Given the description of an element on the screen output the (x, y) to click on. 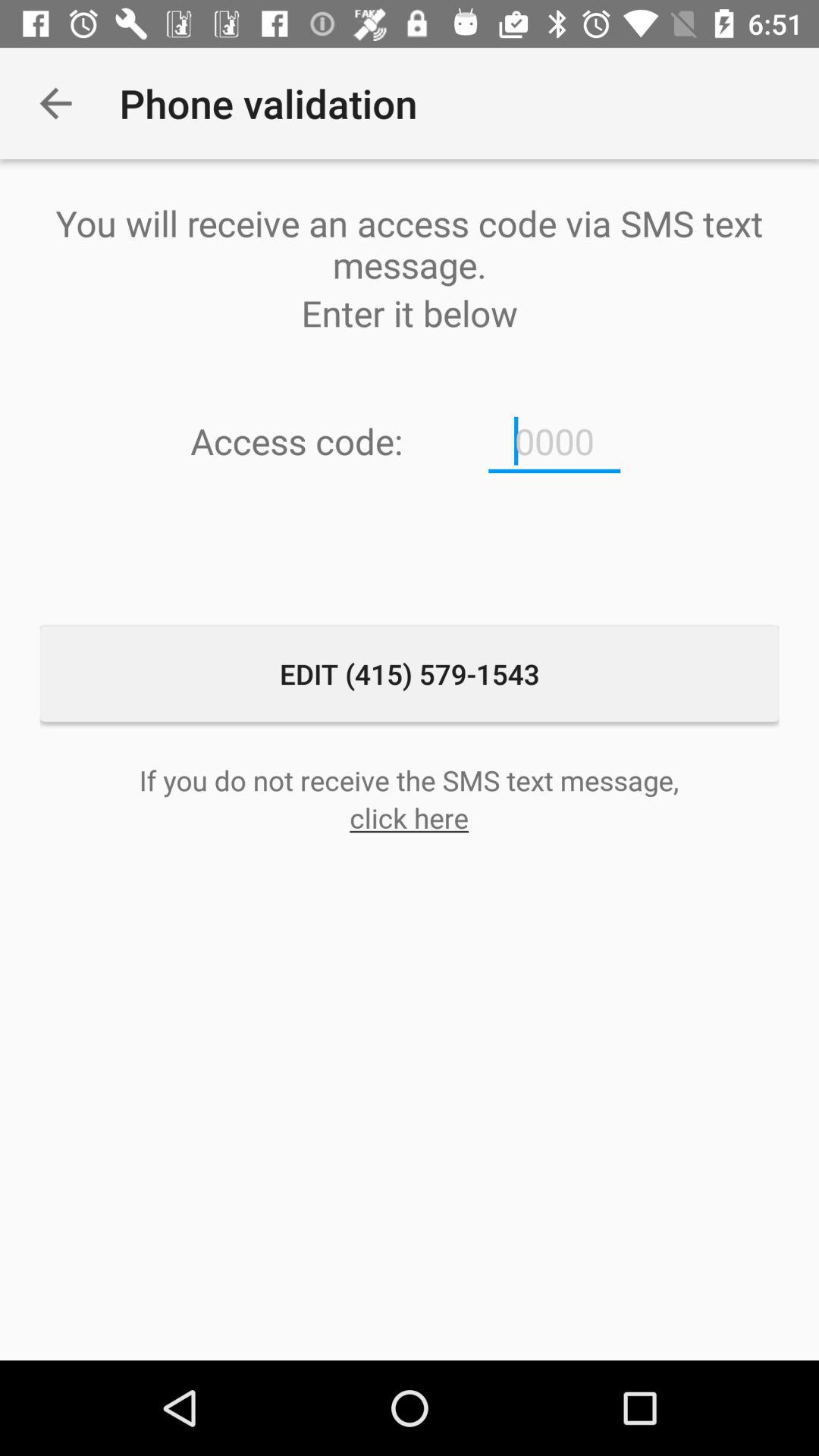
scroll to the edit 415 579 icon (409, 673)
